Given the description of an element on the screen output the (x, y) to click on. 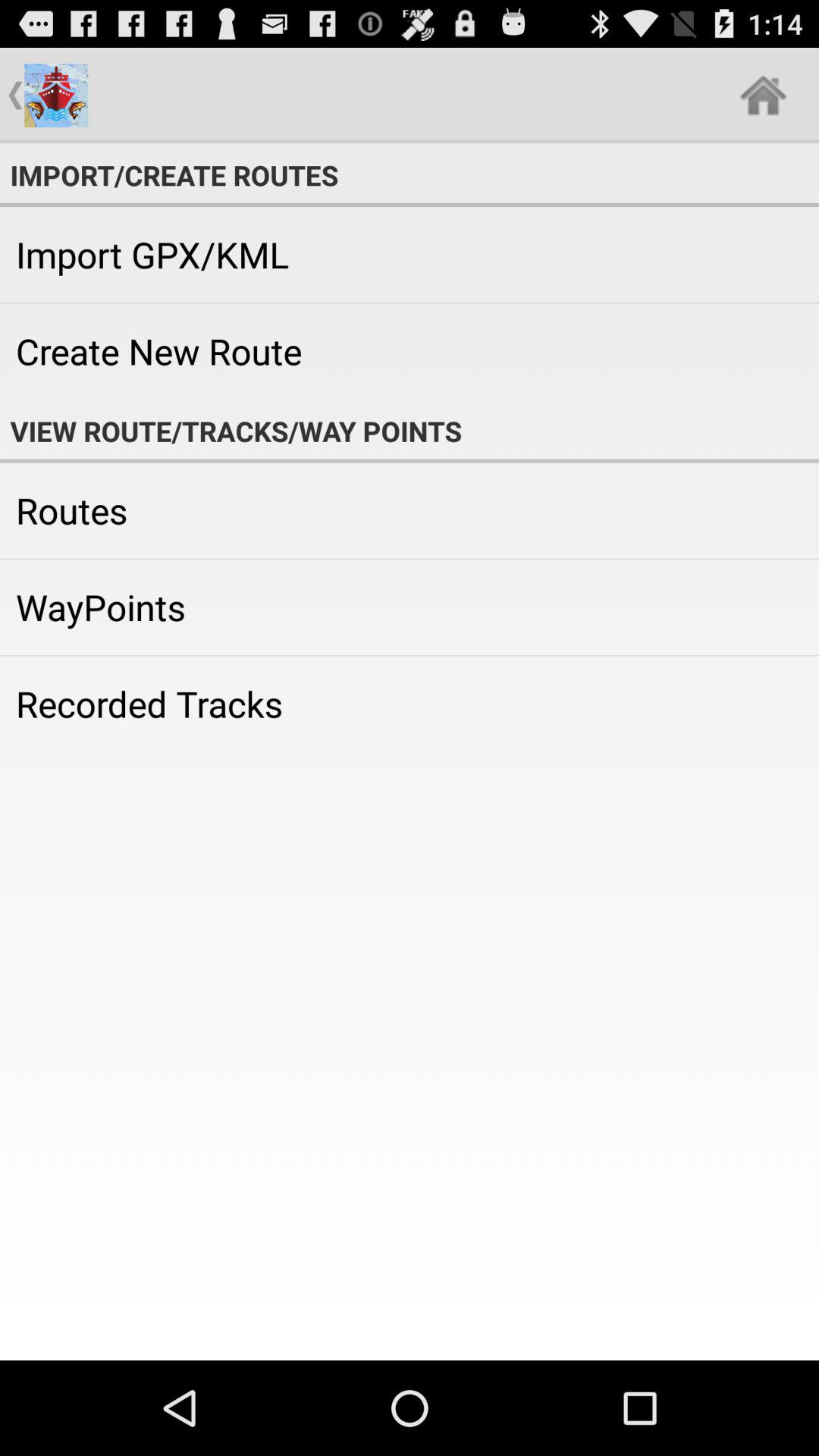
launch the icon above recorded tracks icon (409, 607)
